Given the description of an element on the screen output the (x, y) to click on. 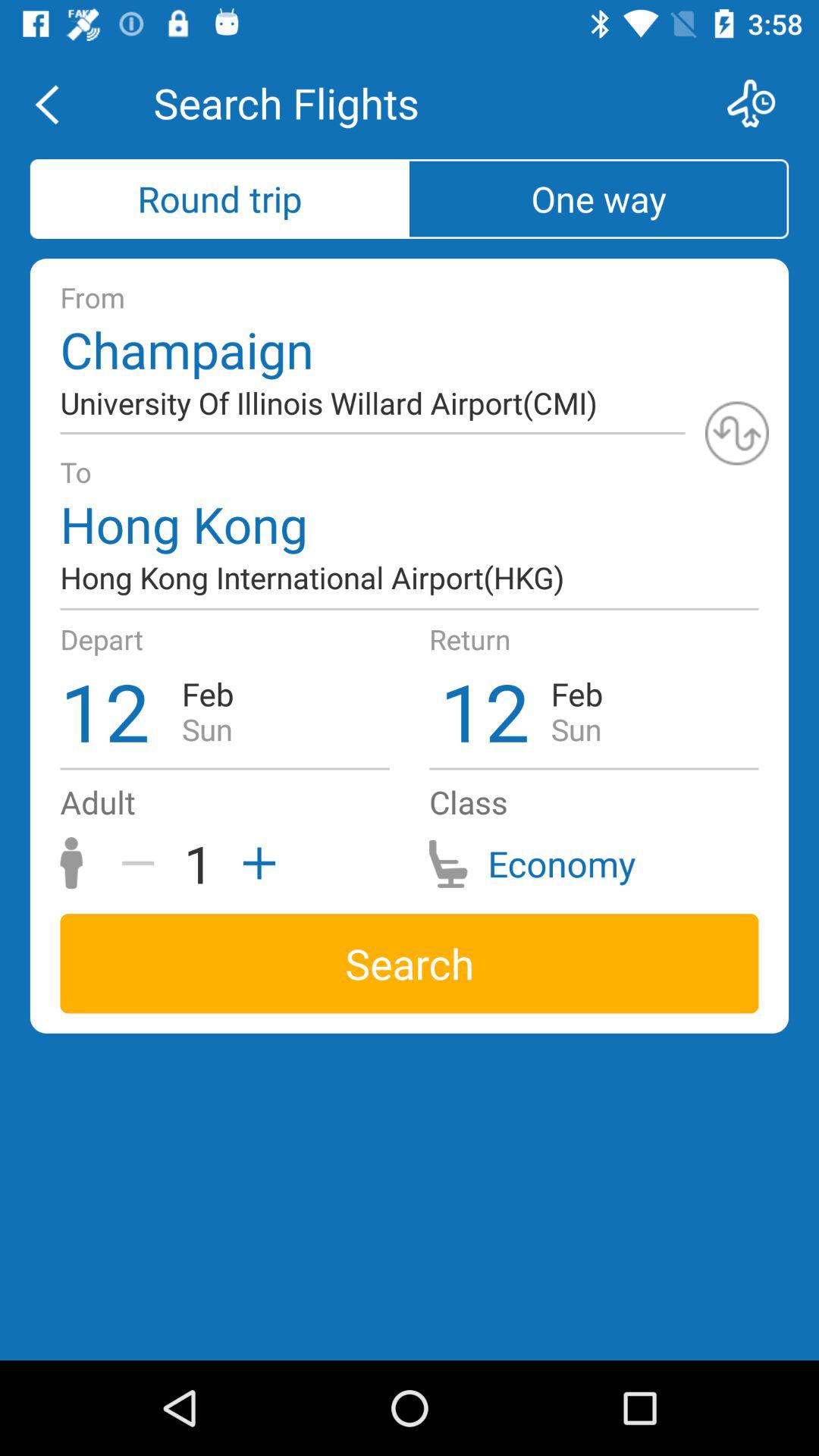
adicionar passageiro (254, 863)
